Given the description of an element on the screen output the (x, y) to click on. 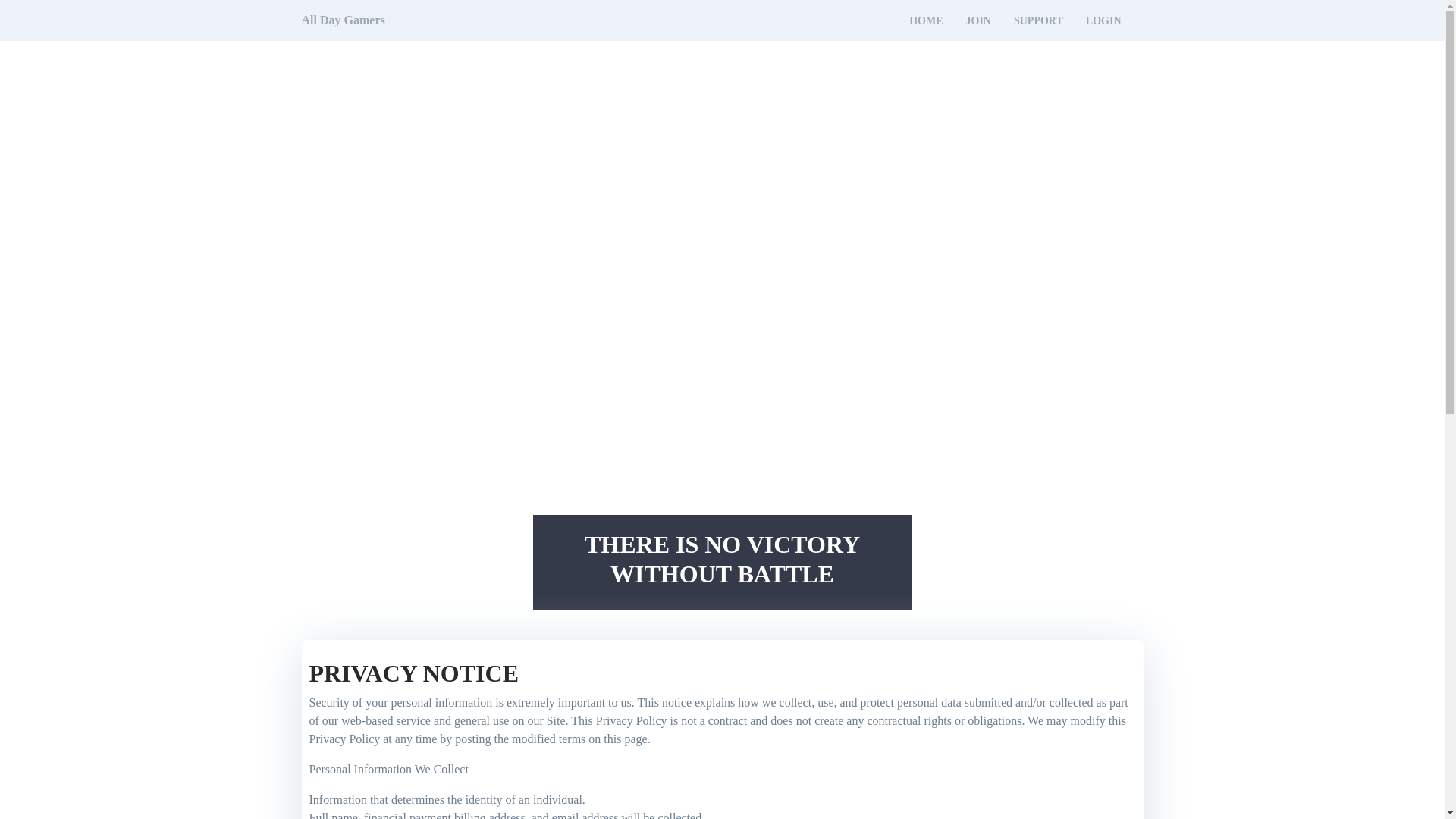
JOIN (978, 20)
HOME (925, 20)
SUPPORT (1037, 20)
LOGO (343, 20)
LOGIN (1103, 20)
All Day Gamers (343, 20)
